Given the description of an element on the screen output the (x, y) to click on. 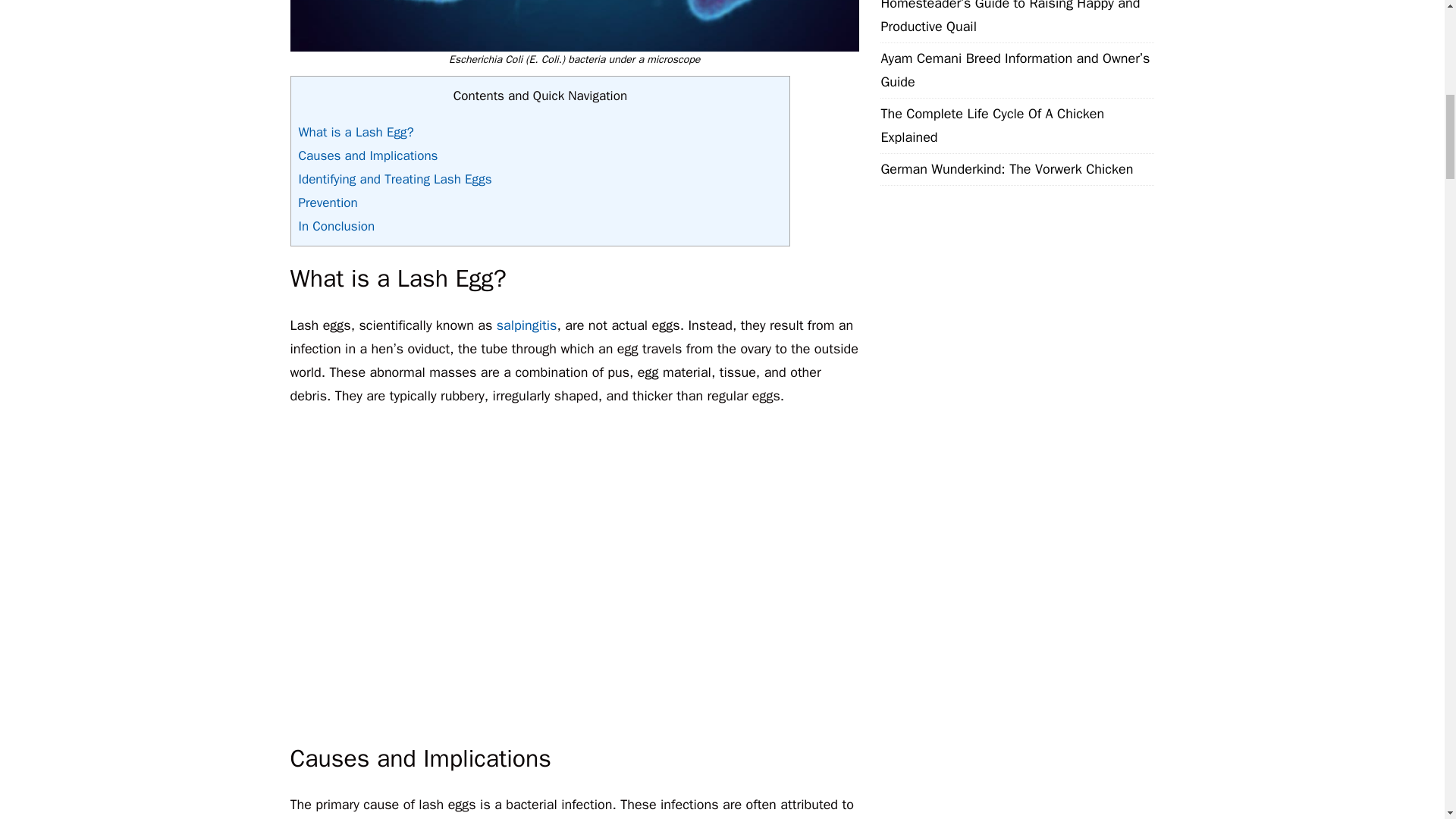
In Conclusion (336, 226)
salpingitis (526, 324)
Identifying and Treating Lash Eggs (395, 179)
Causes and Implications (368, 155)
Prevention (328, 202)
What is a Lash Egg? (355, 132)
